Given the description of an element on the screen output the (x, y) to click on. 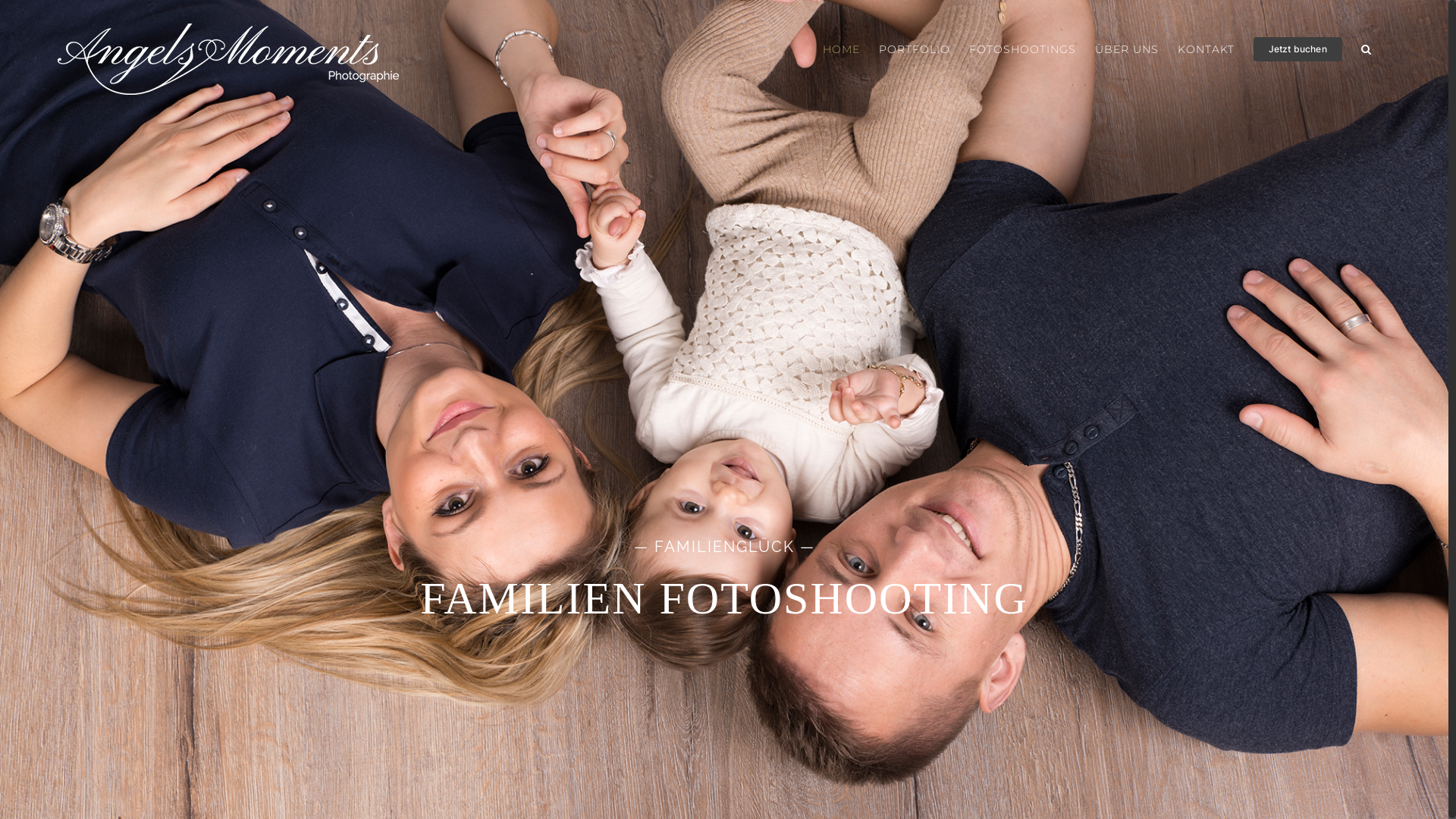
KONTAKT Element type: text (1205, 49)
FOTOSHOOTINGS Element type: text (1022, 49)
PORTFOLIO Element type: text (914, 49)
Jetzt buchen Element type: text (1297, 49)
HOME Element type: text (840, 49)
Suche Element type: hover (1366, 49)
